Given the description of an element on the screen output the (x, y) to click on. 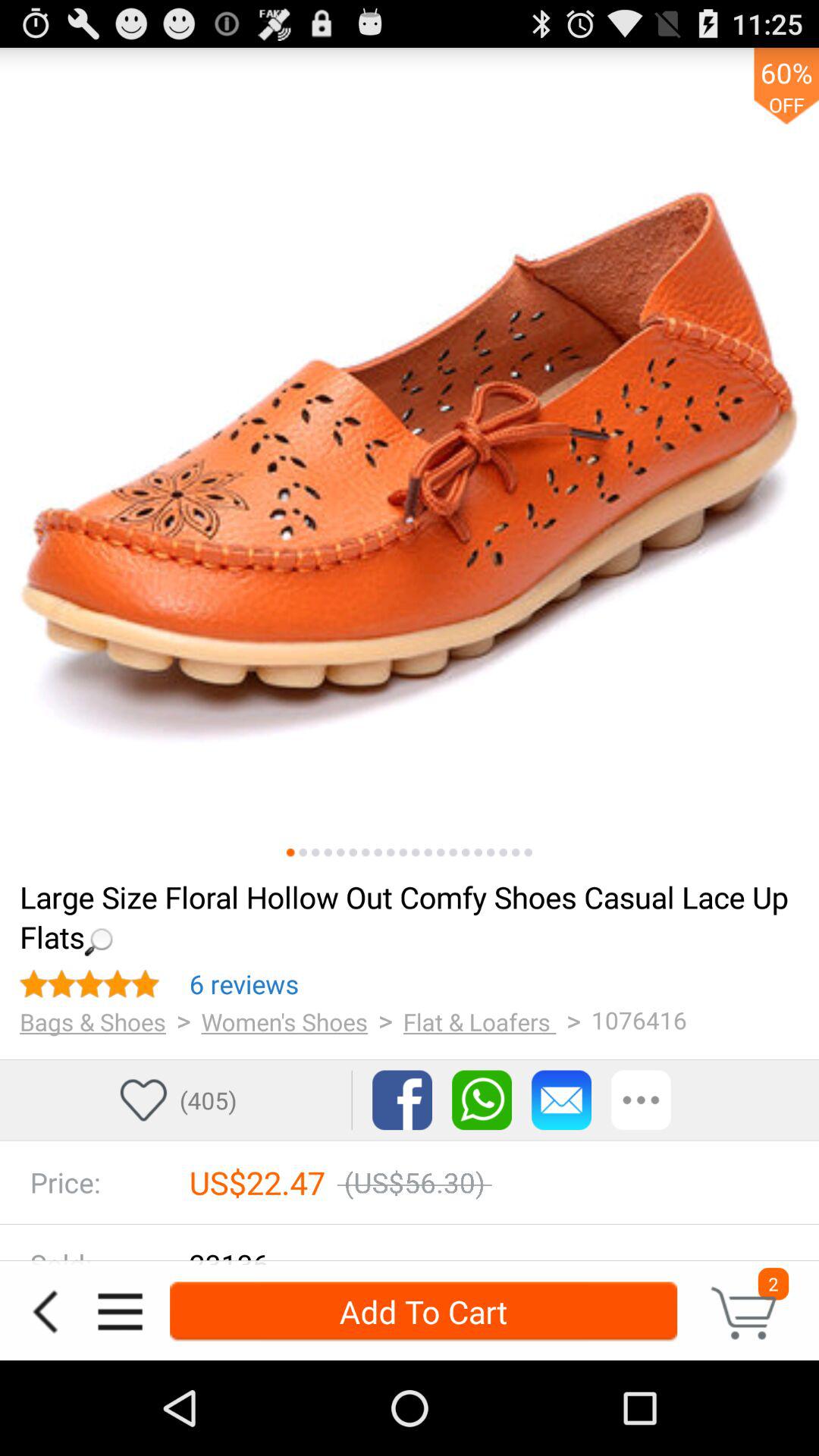
select image (315, 852)
